Given the description of an element on the screen output the (x, y) to click on. 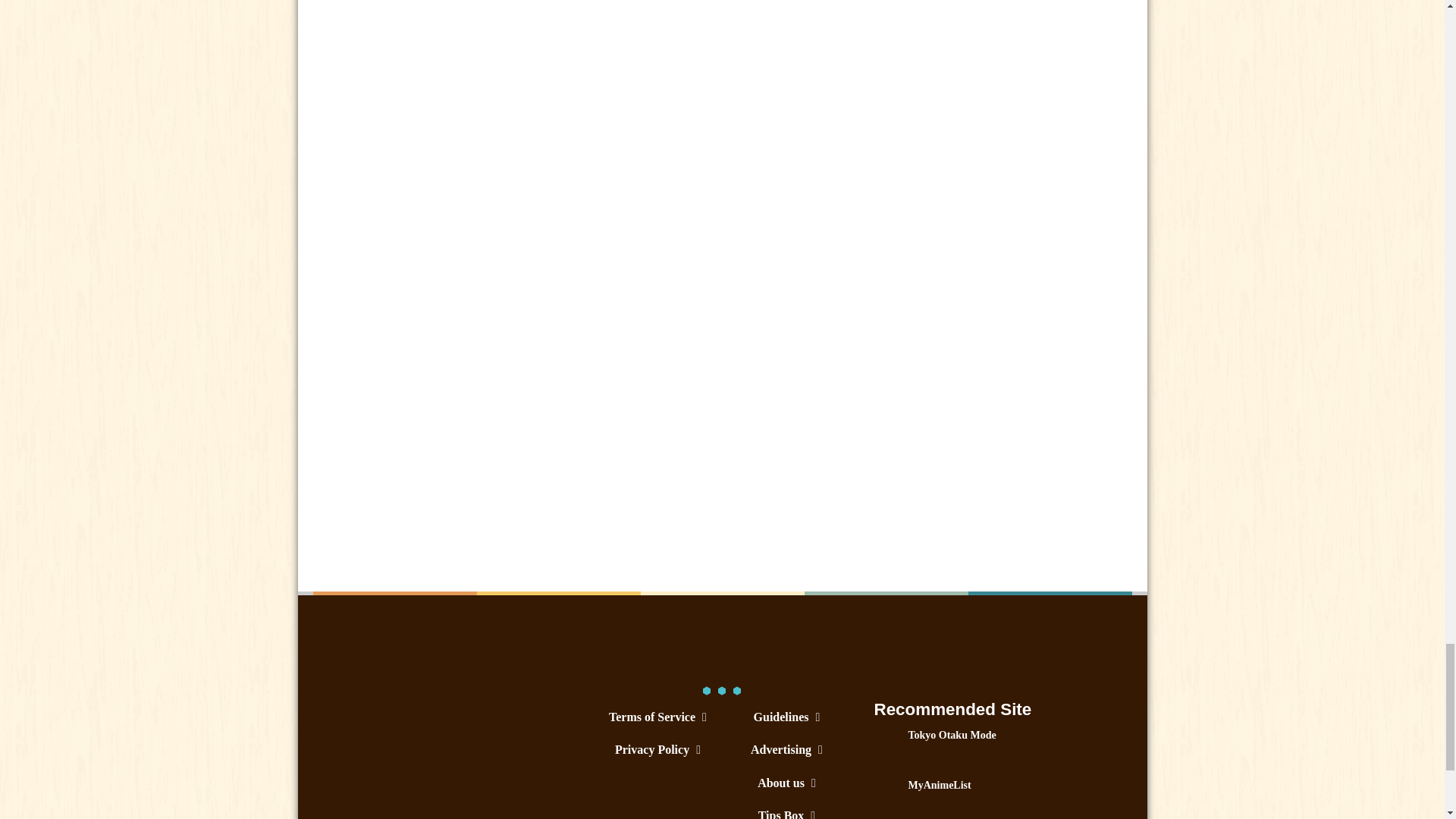
Terms of Service (657, 716)
Terms of Service Agreement (657, 716)
Privacy Policy (657, 748)
Guidelines (786, 716)
